Given the description of an element on the screen output the (x, y) to click on. 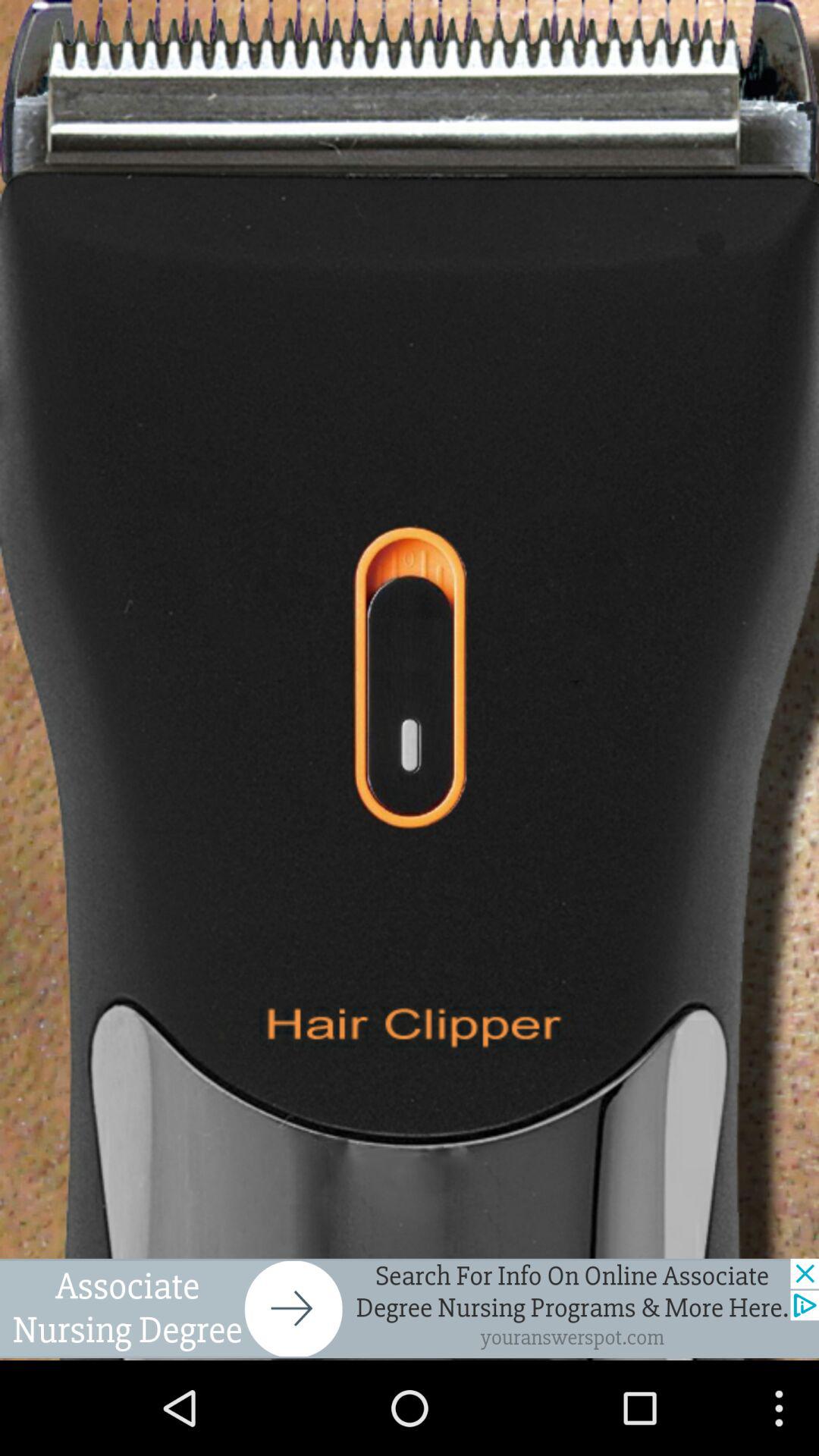
turn widget on (409, 679)
